Given the description of an element on the screen output the (x, y) to click on. 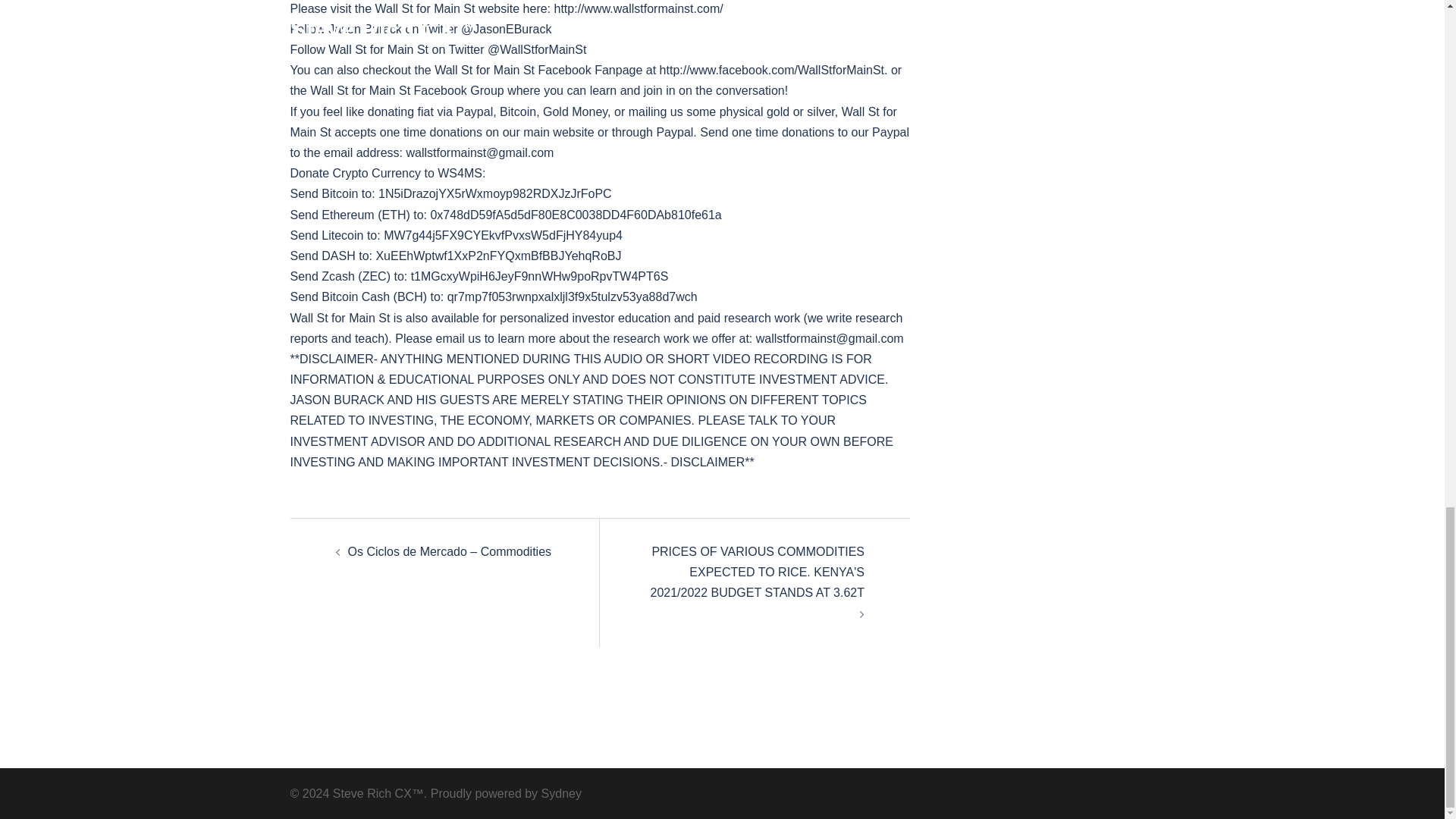
Sydney (560, 793)
